Given the description of an element on the screen output the (x, y) to click on. 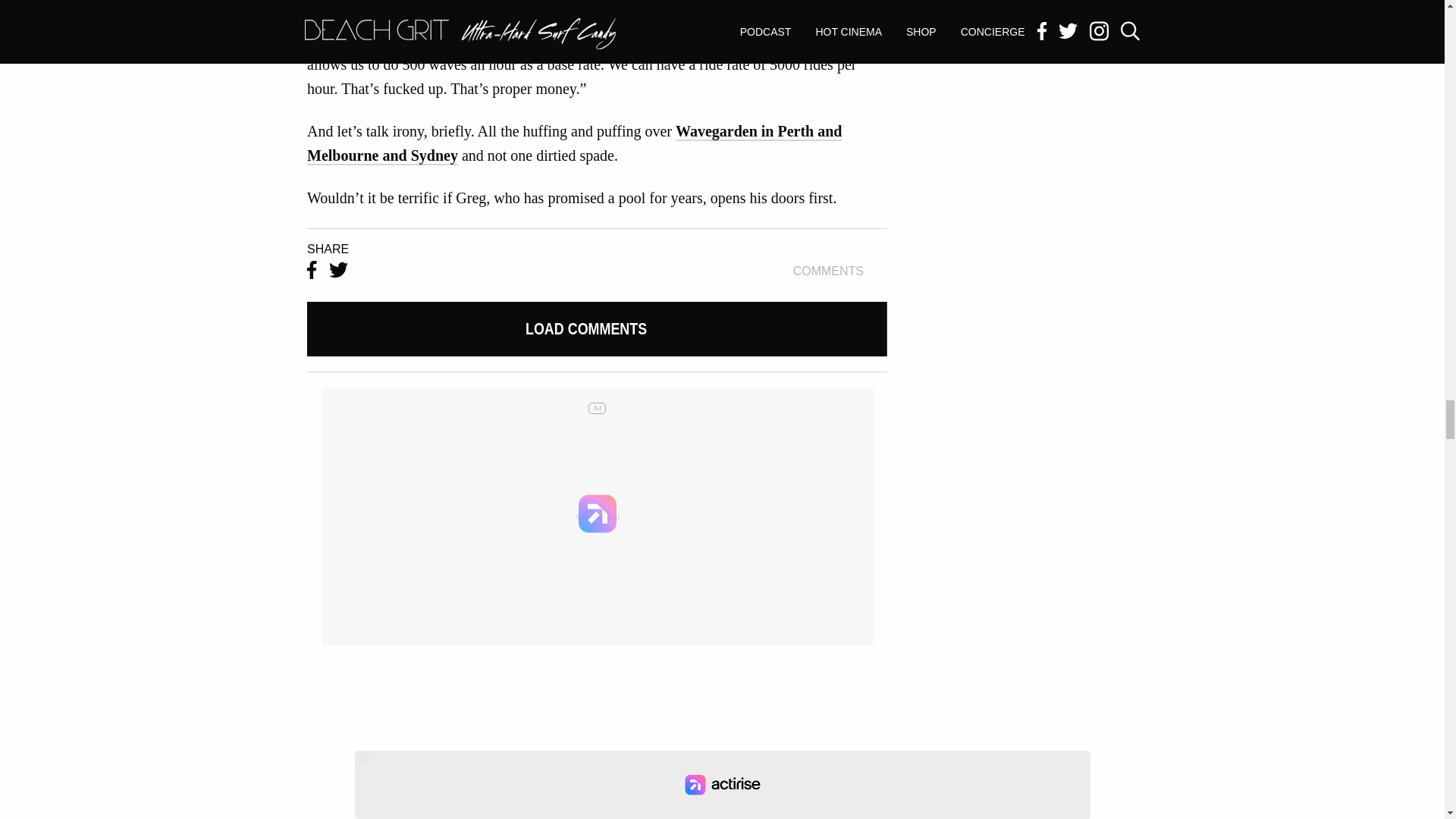
Share on Twitter (338, 270)
Wavegarden in Perth and Melbourne and Sydney (669, 329)
